Given the description of an element on the screen output the (x, y) to click on. 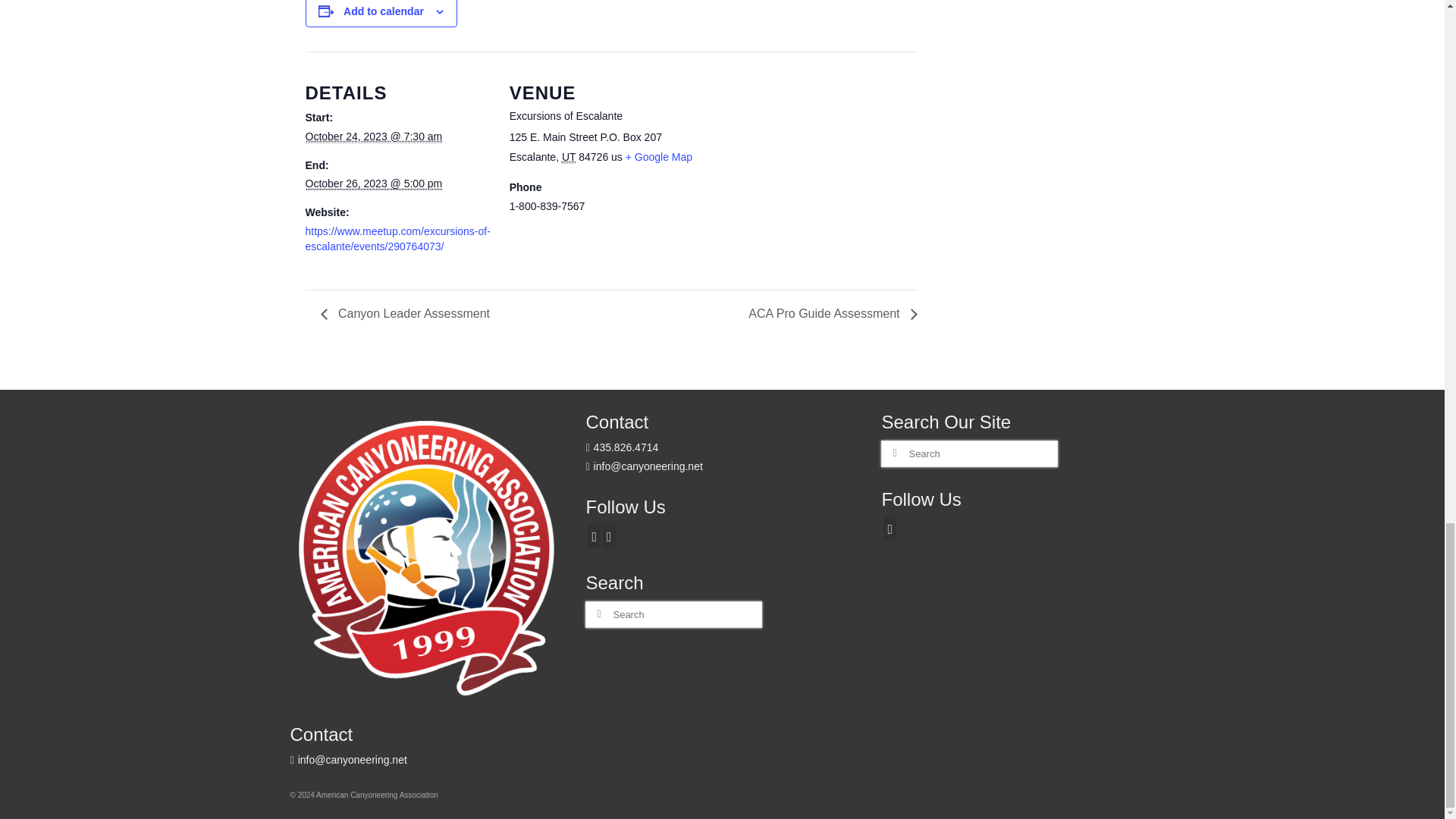
Utah (568, 156)
2023-10-26 (373, 183)
Click to view a Google Map (659, 156)
2023-10-24 (373, 136)
